Given the description of an element on the screen output the (x, y) to click on. 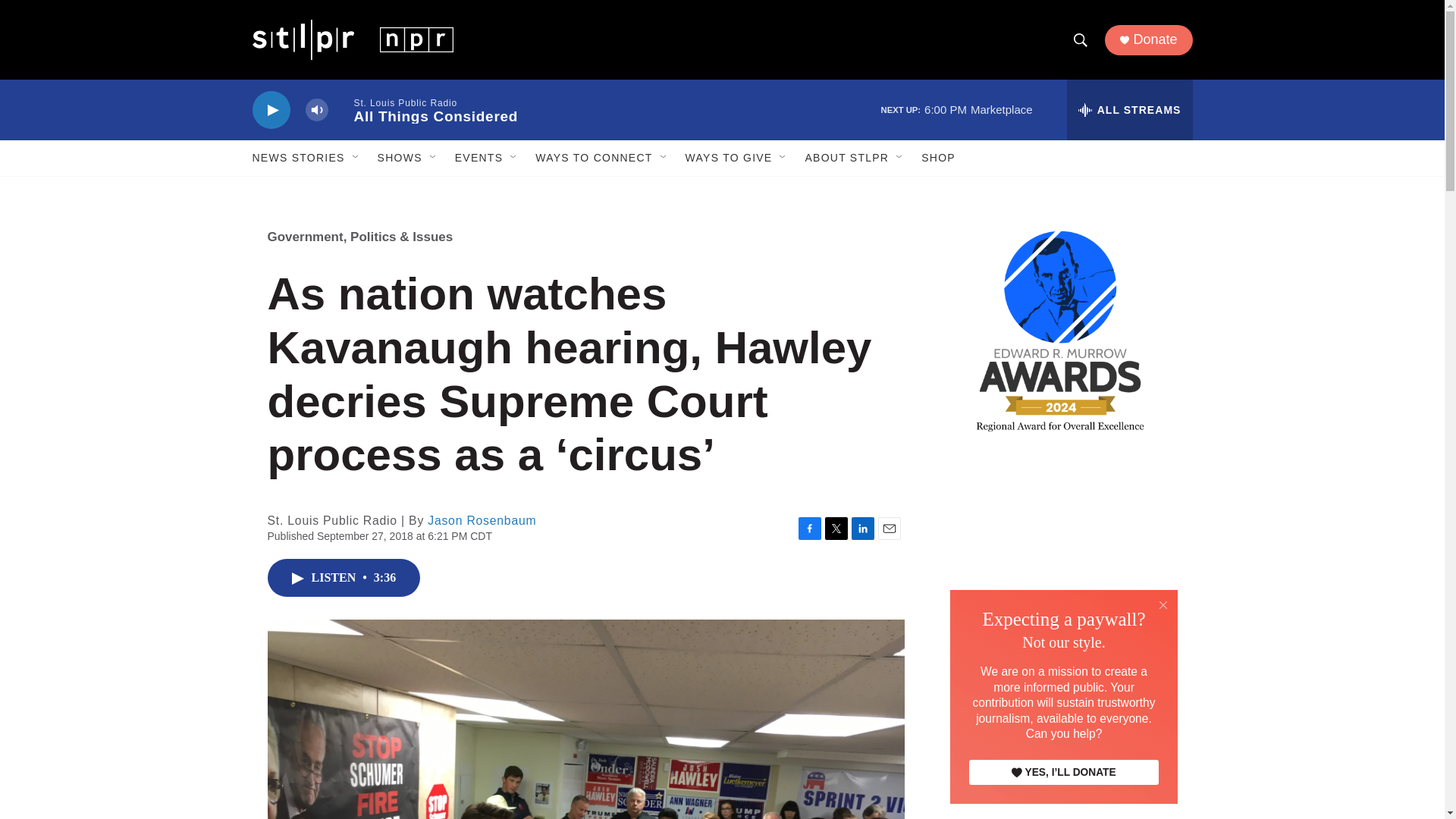
Close (1162, 604)
Close (1162, 605)
3rd party ad content (1062, 566)
